Given the description of an element on the screen output the (x, y) to click on. 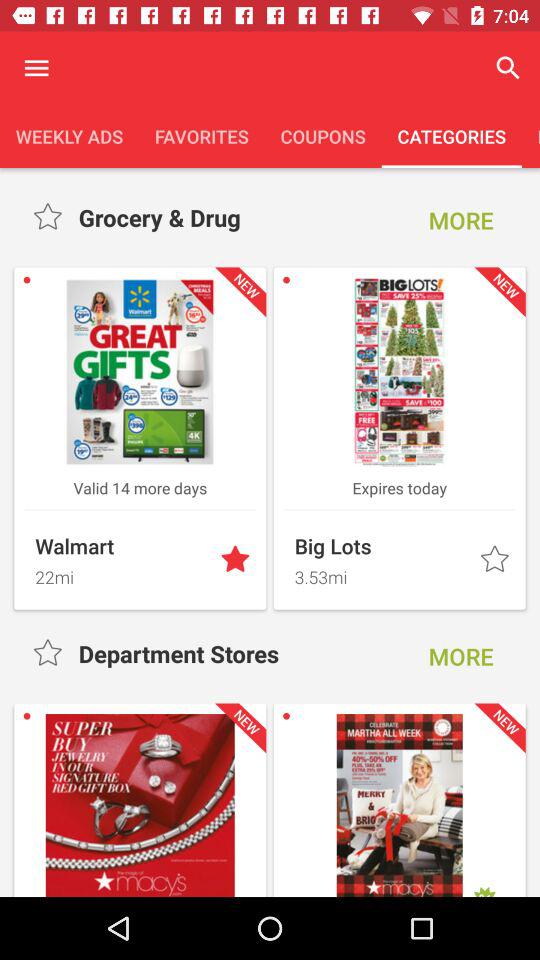
add to favorites (237, 559)
